Given the description of an element on the screen output the (x, y) to click on. 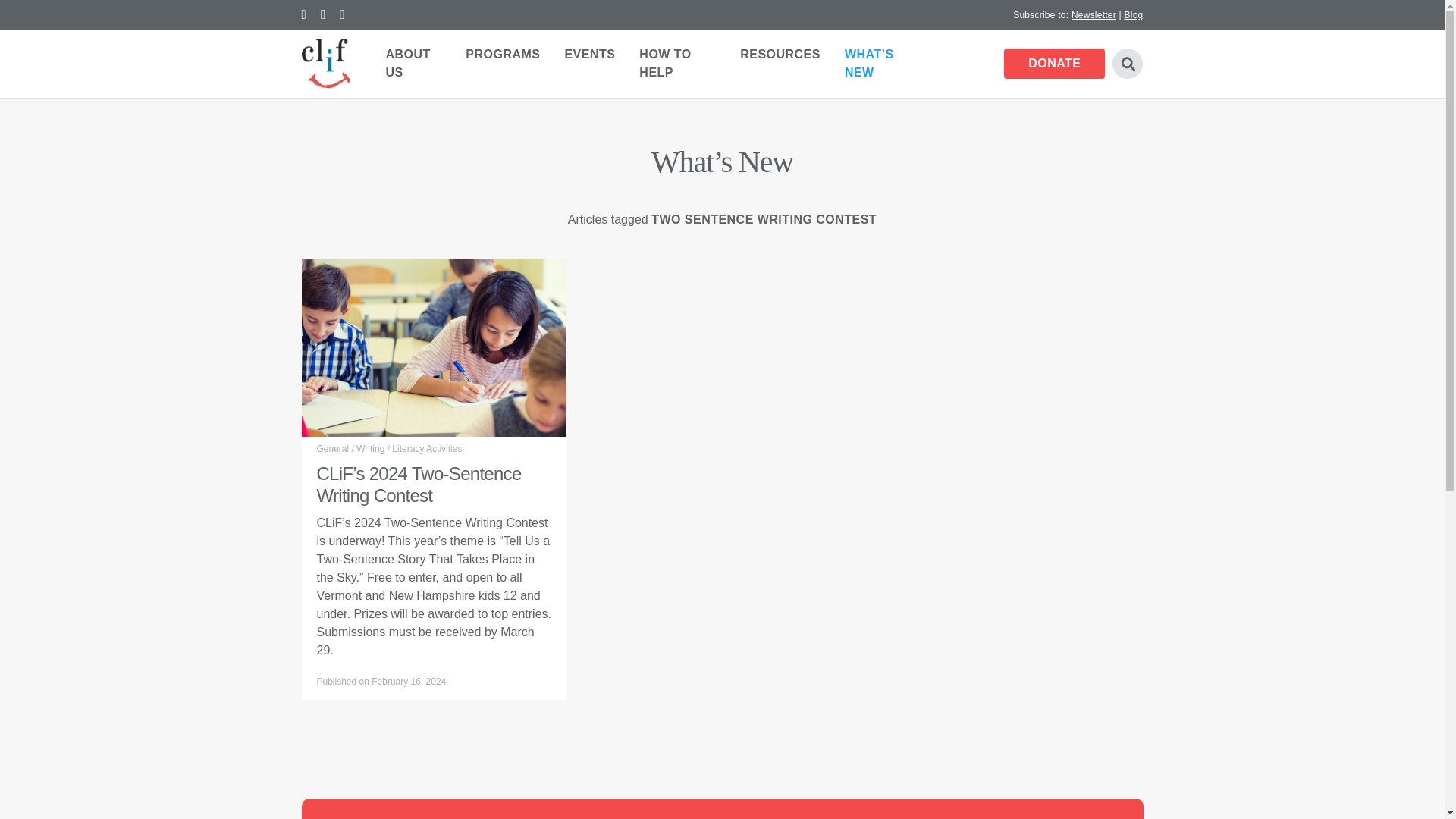
ABOUT US (412, 63)
RESOURCES (780, 54)
EVENTS (589, 54)
DONATE (1054, 63)
PROGRAMS (501, 54)
Blog (1133, 14)
HOW TO HELP (677, 63)
Newsletter (1093, 14)
